Given the description of an element on the screen output the (x, y) to click on. 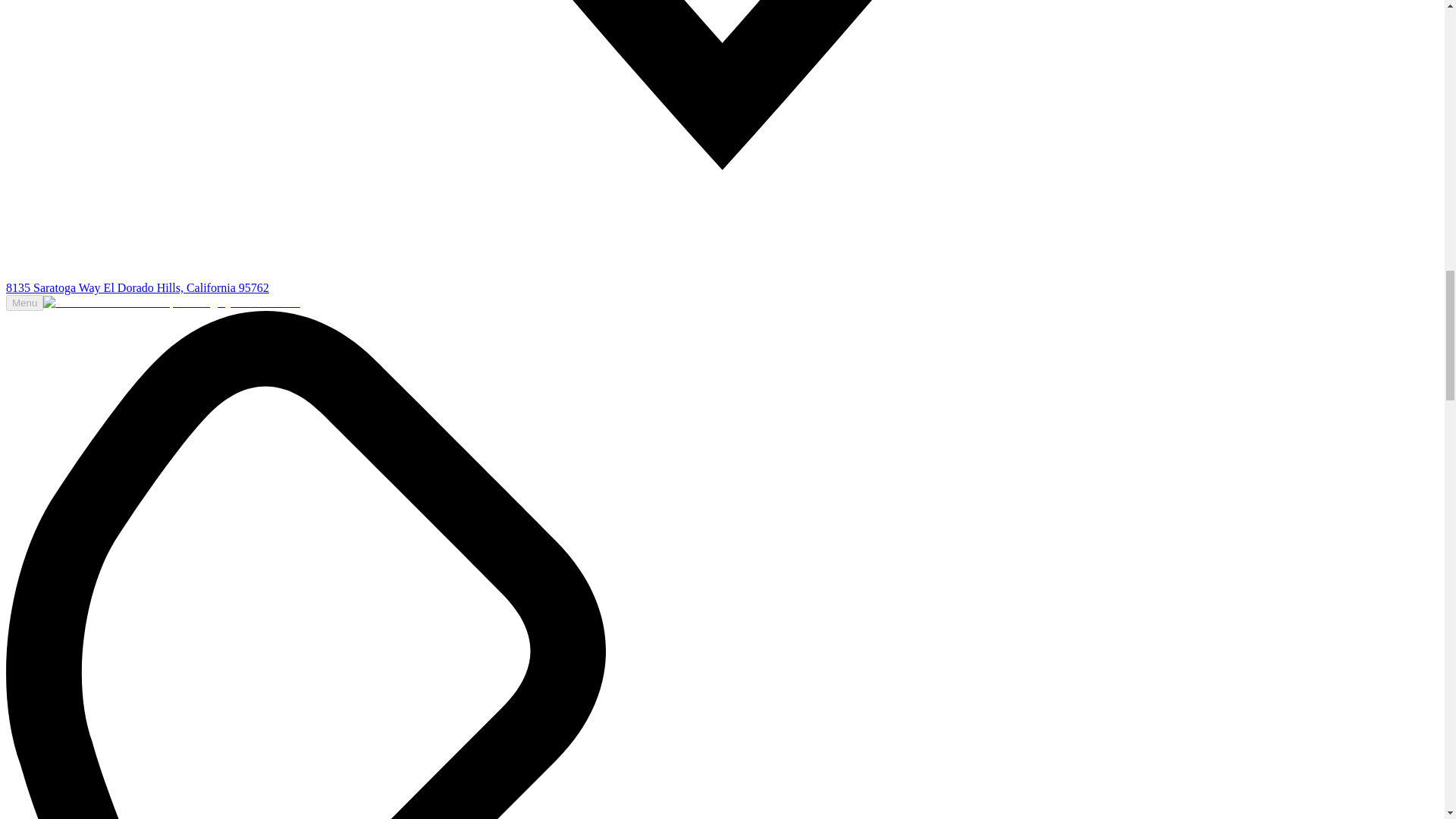
8135 Saratoga Way El Dorado Hills, California 95762 (137, 287)
Menu (24, 302)
